Given the description of an element on the screen output the (x, y) to click on. 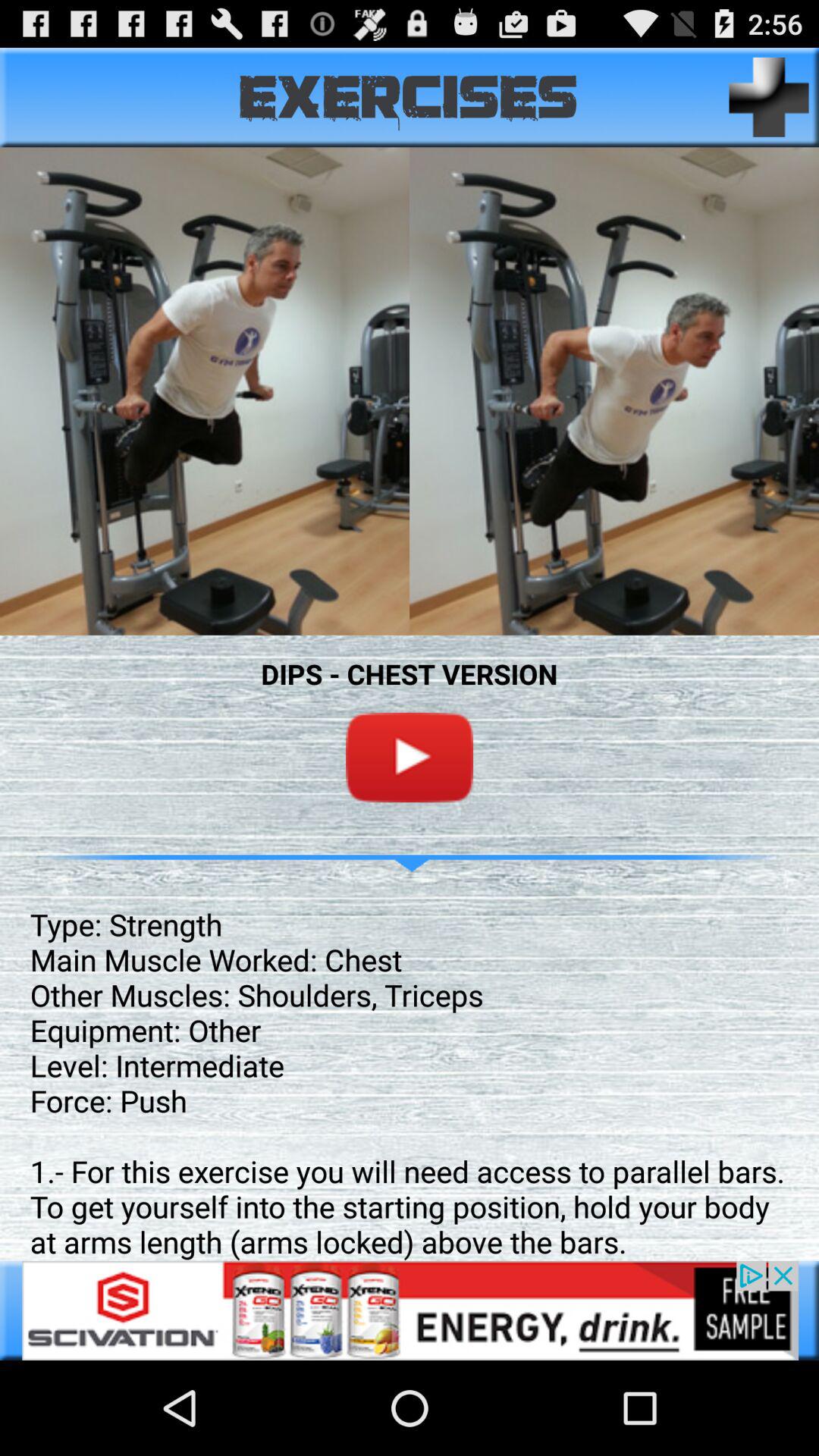
add exercise (768, 97)
